Given the description of an element on the screen output the (x, y) to click on. 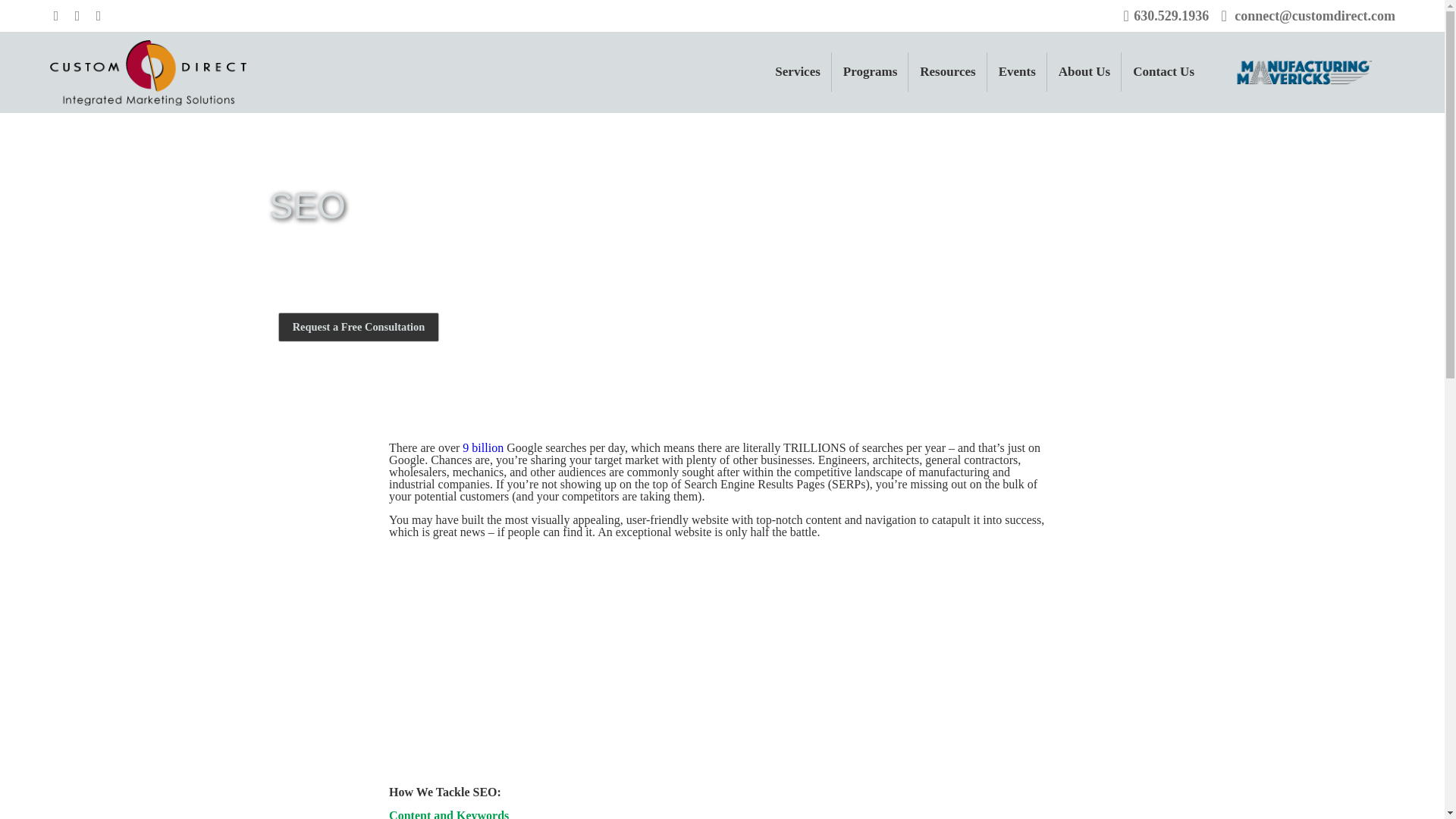
Services (796, 71)
630.529.1936 (1171, 14)
Programs (869, 71)
Resources (947, 71)
